Given the description of an element on the screen output the (x, y) to click on. 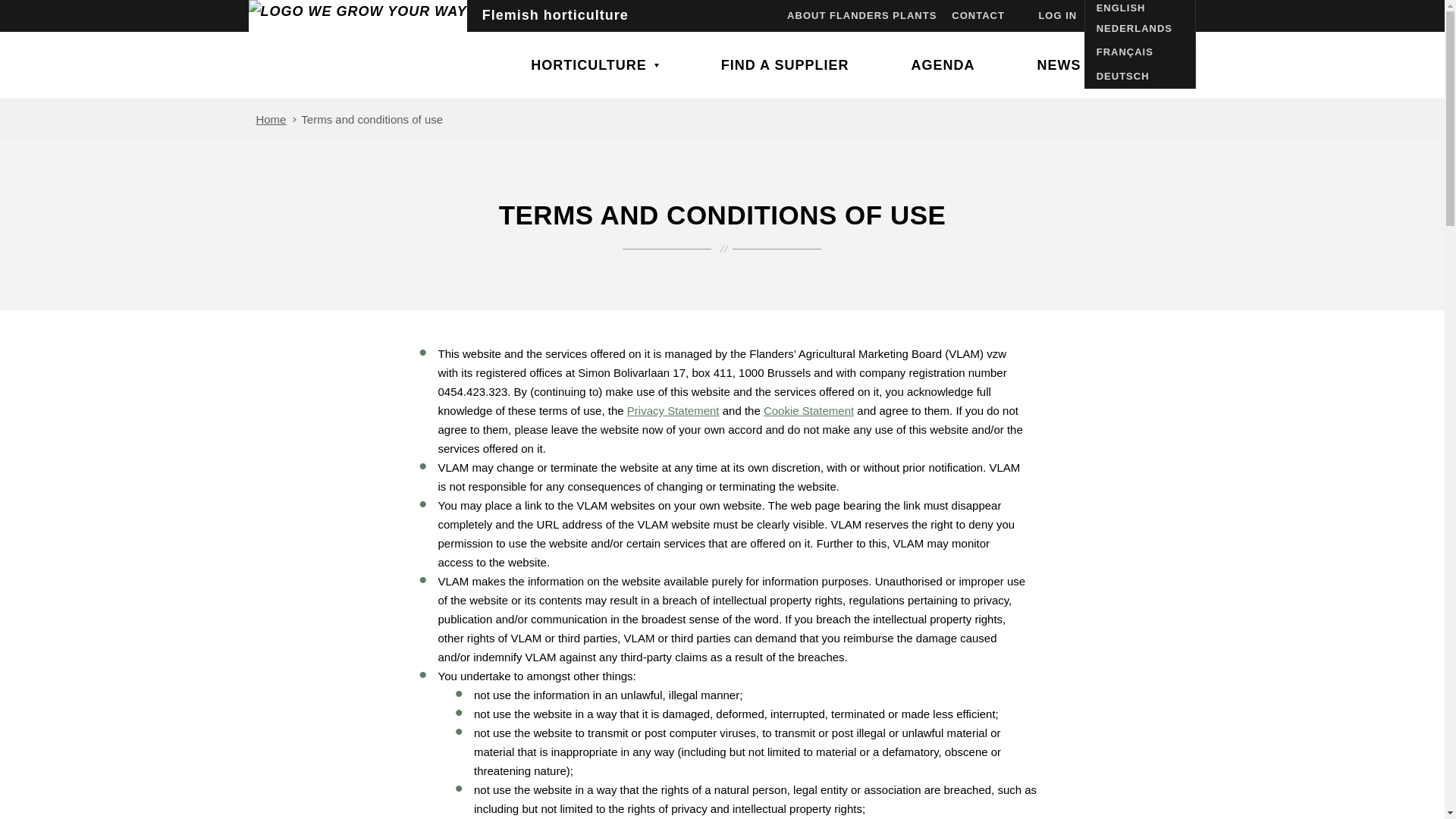
Go to homepage (357, 49)
AGENDA (942, 64)
LOG IN (1057, 15)
Cookie Statement (807, 410)
FIND A SUPPLIER (785, 64)
HORTICULTURE (594, 64)
NEWS (1059, 64)
Privacy Statement (673, 410)
Flemish horticulture (357, 49)
